Given the description of an element on the screen output the (x, y) to click on. 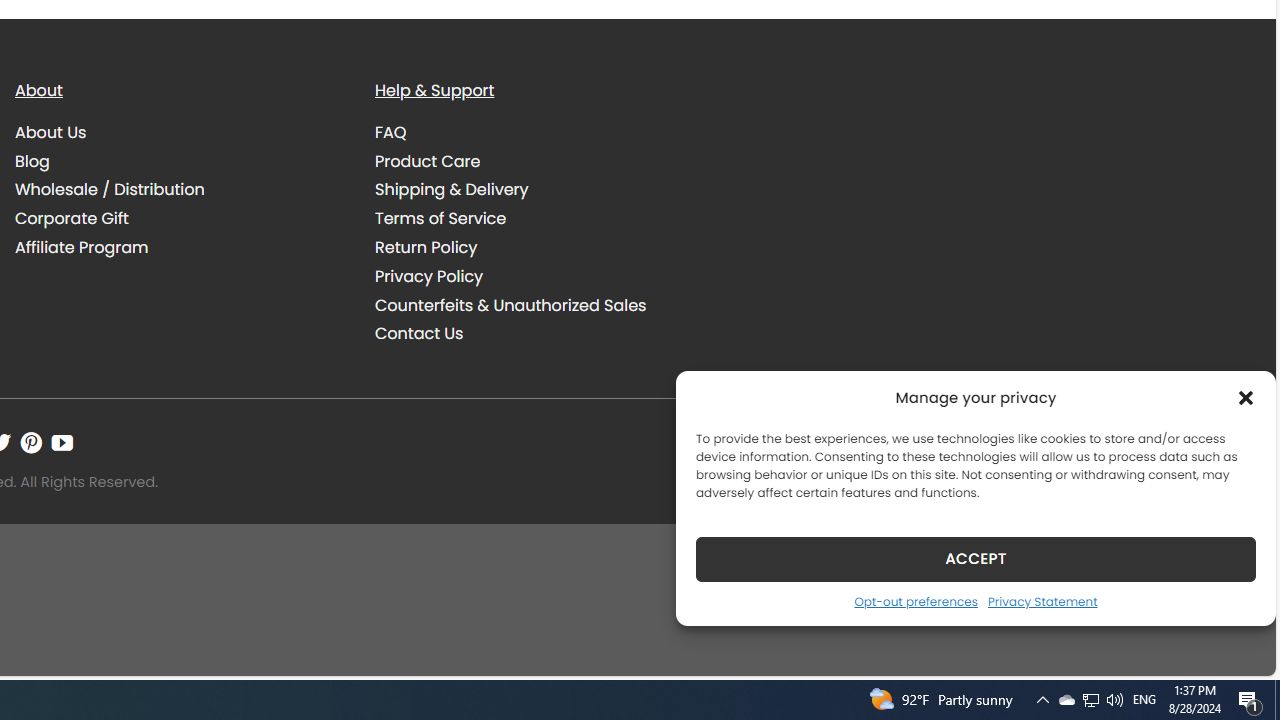
Shipping & Delivery (540, 190)
Follow on YouTube (61, 442)
Class: cmplz-close (1245, 397)
